Given the description of an element on the screen output the (x, y) to click on. 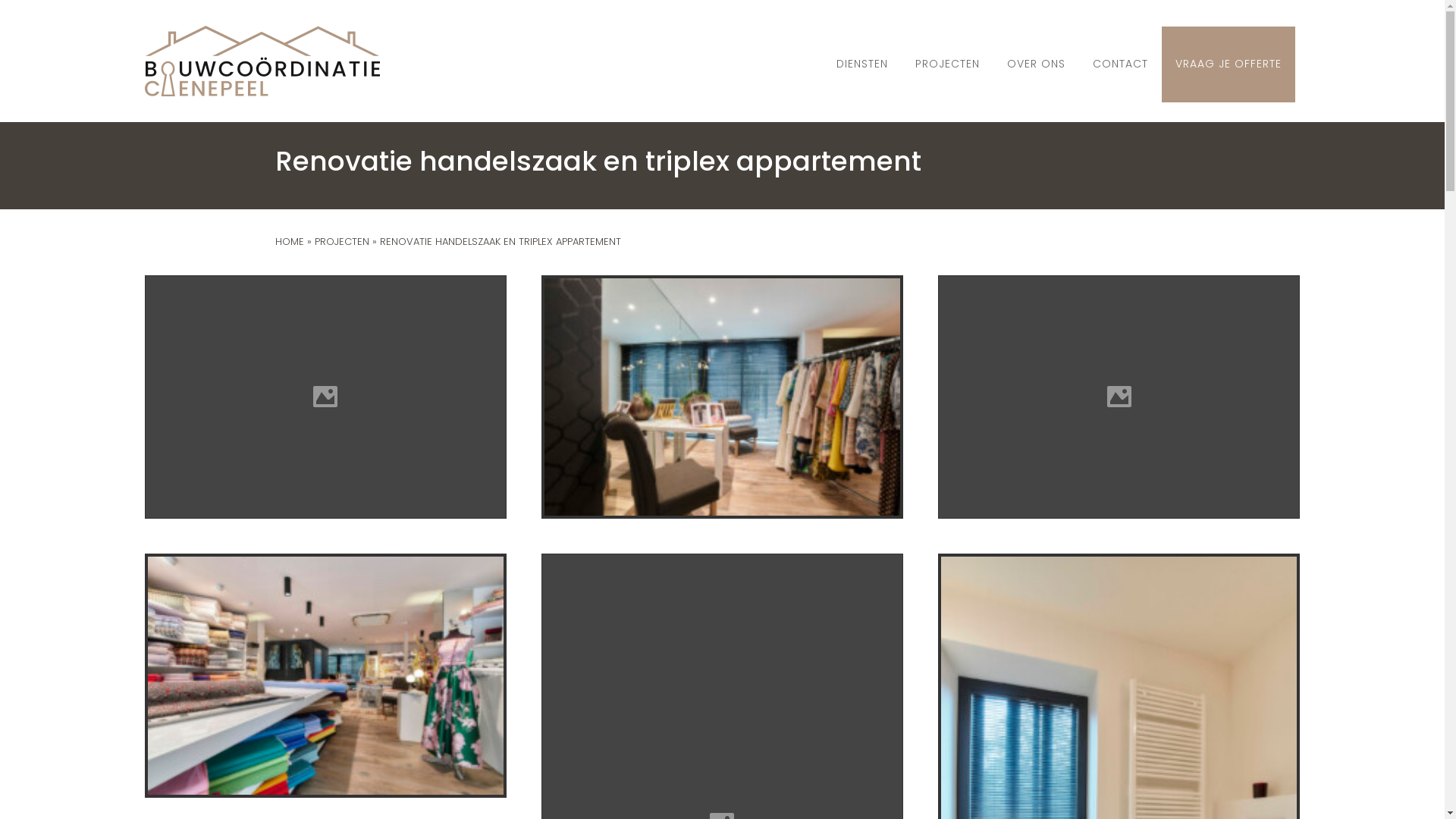
PROJECTEN Element type: text (947, 63)
DIENSTEN Element type: text (862, 63)
OVER ONS Element type: text (1035, 63)
HOME Element type: text (288, 241)
CONTACT Element type: text (1120, 63)
VRAAG JE OFFERTE Element type: text (1228, 63)
PROJECTEN Element type: text (340, 241)
